Given the description of an element on the screen output the (x, y) to click on. 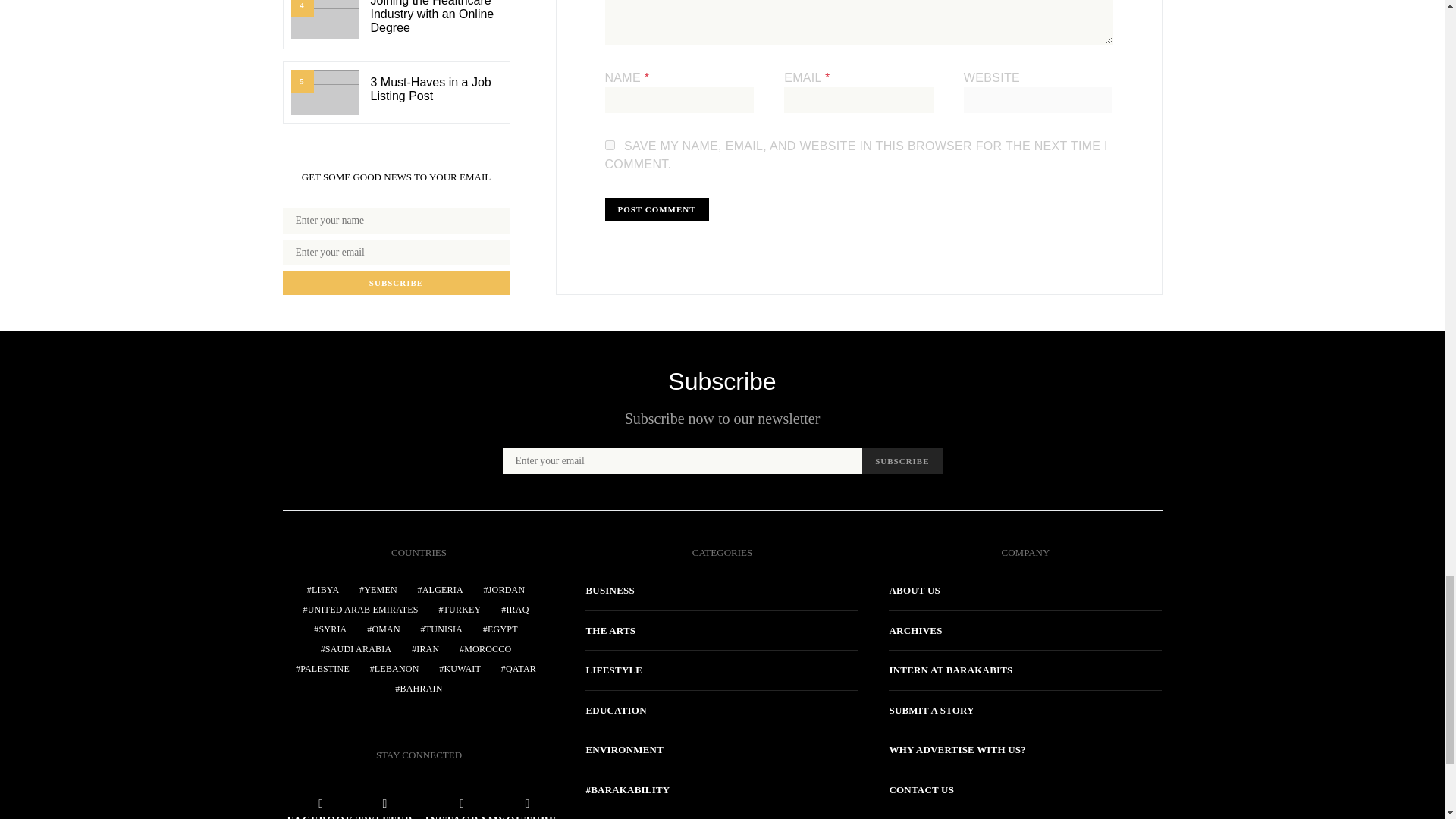
yes (609, 144)
Post Comment (657, 209)
